Given the description of an element on the screen output the (x, y) to click on. 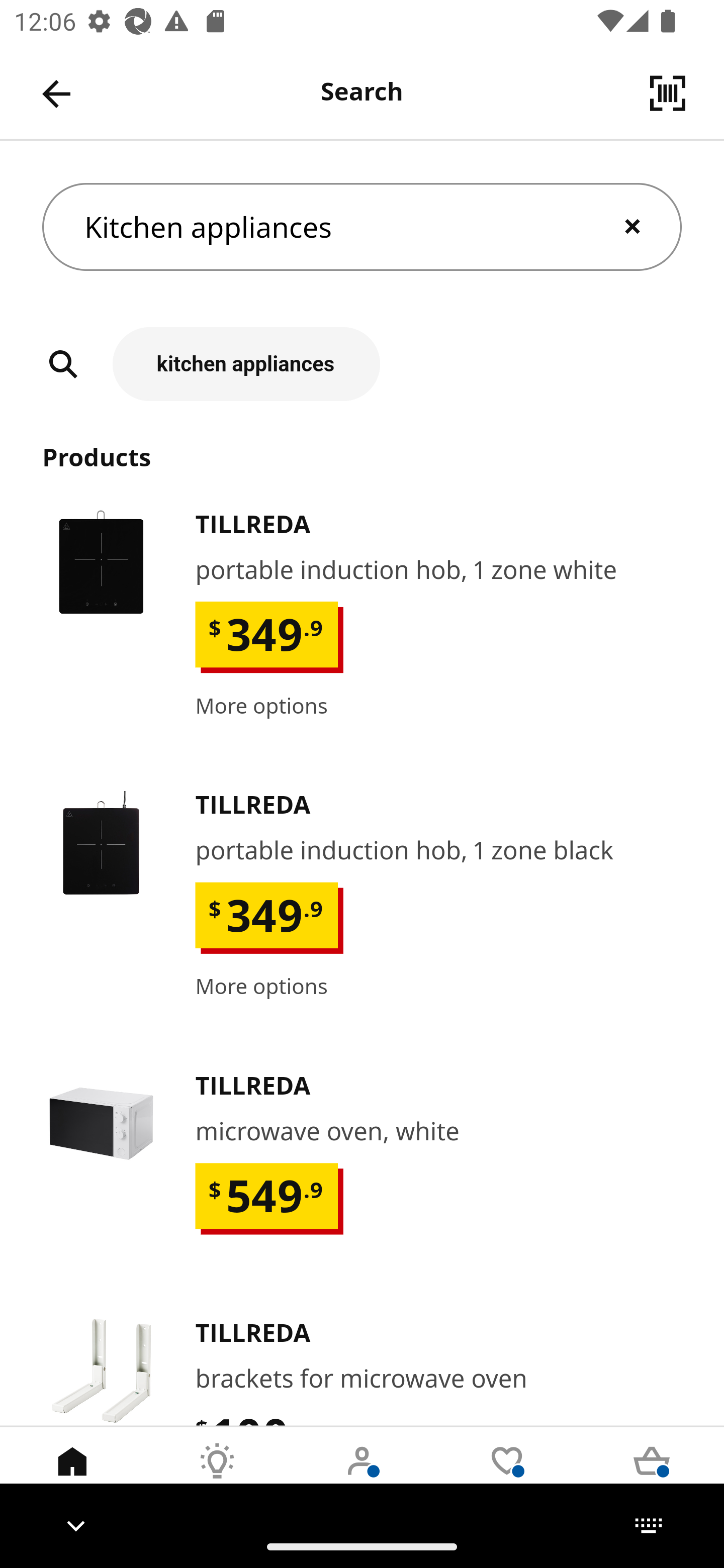
Kitchen appliances (361, 227)
kitchen appliances (361, 364)
​T​I​L​L​R​E​D​A​
microwave oven, white
$
549
.9 (361, 1177)
Home
Tab 1 of 5 (72, 1476)
Inspirations
Tab 2 of 5 (216, 1476)
User
Tab 3 of 5 (361, 1476)
Wishlist
Tab 4 of 5 (506, 1476)
Cart
Tab 5 of 5 (651, 1476)
